Given the description of an element on the screen output the (x, y) to click on. 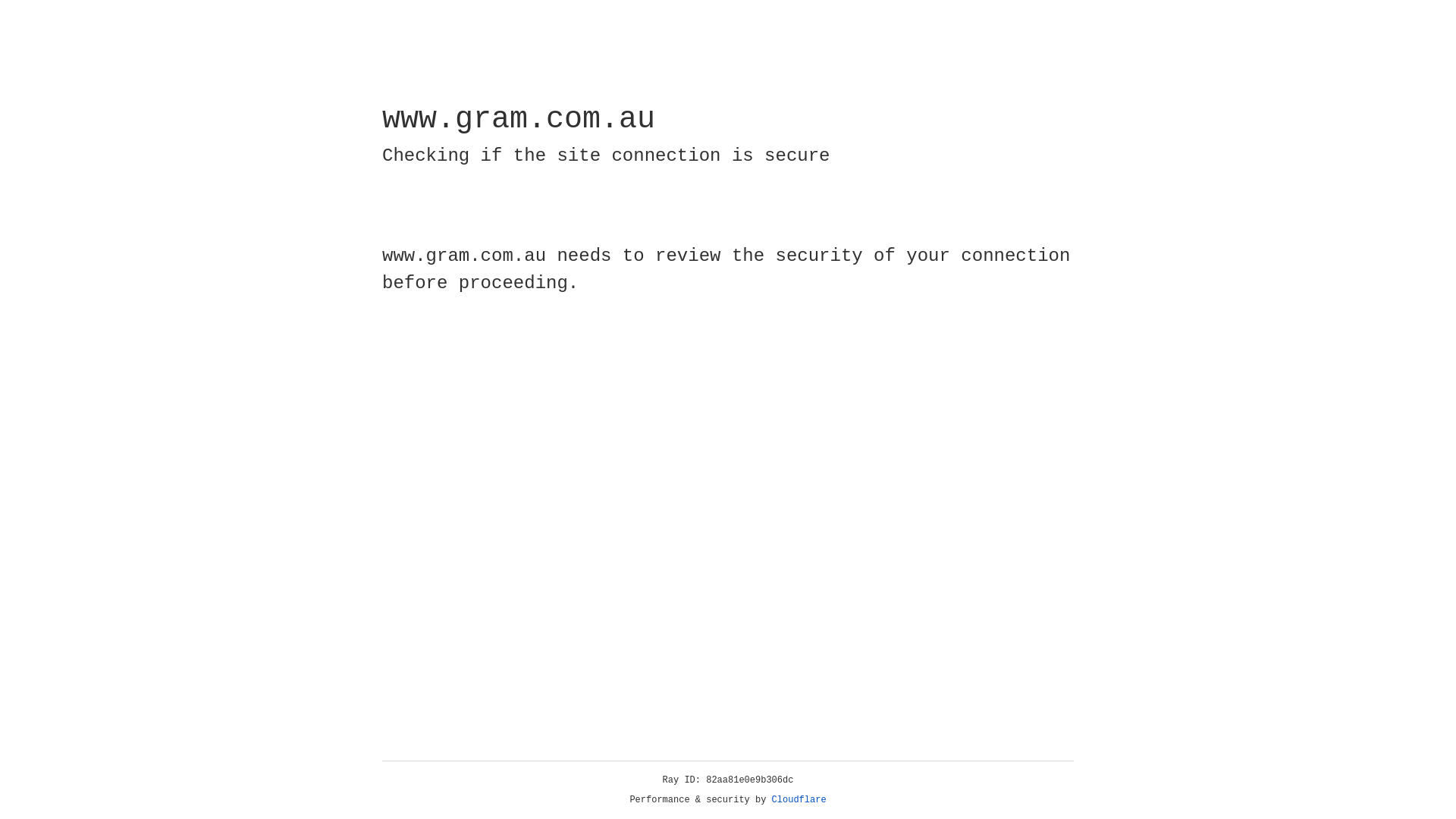
Cloudflare Element type: text (798, 799)
